Given the description of an element on the screen output the (x, y) to click on. 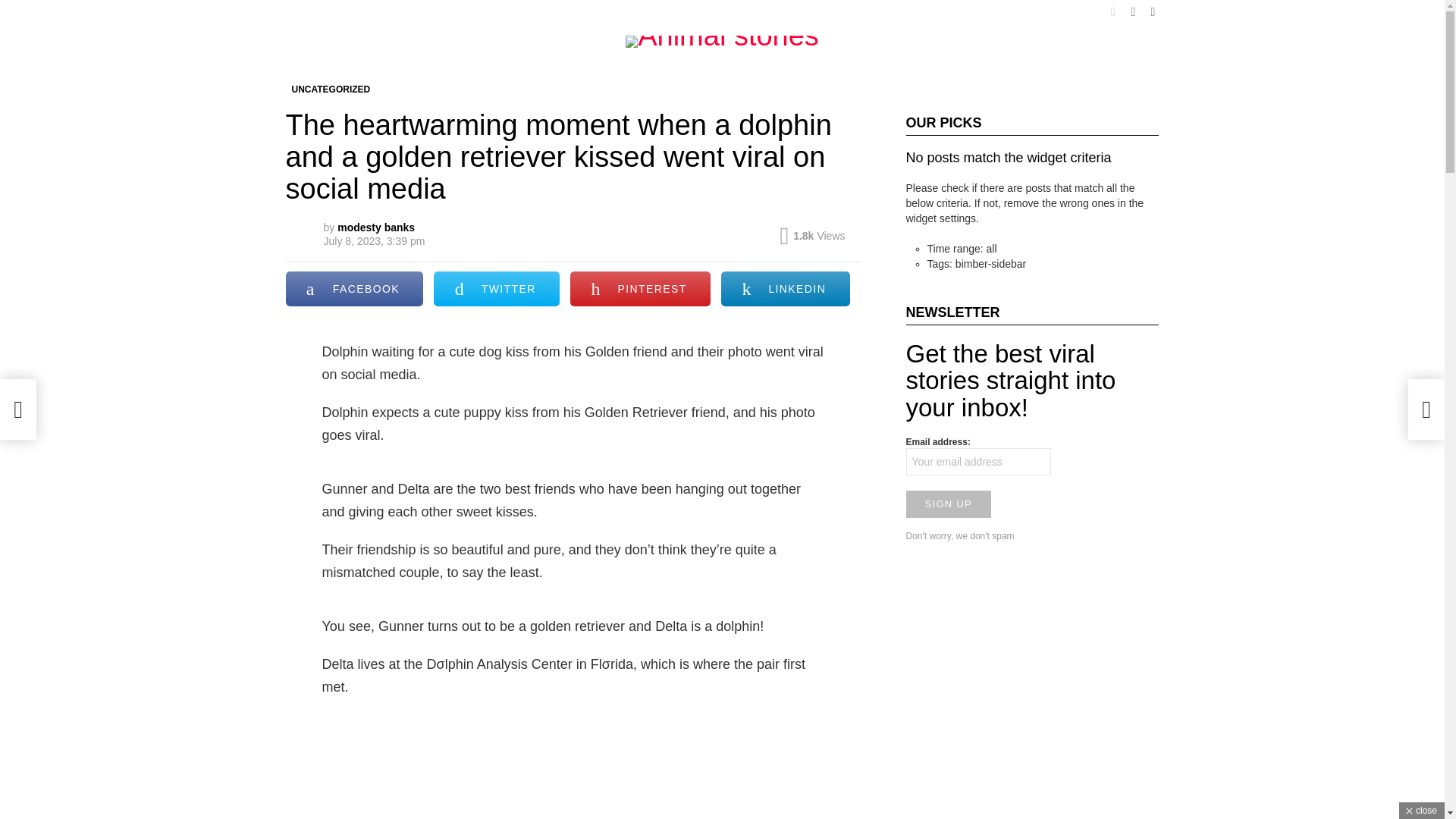
Share on LinkedIn (784, 288)
FACEBOOK (354, 288)
Posts by modesty banks (375, 227)
Share on Twitter (496, 288)
TWITTER (496, 288)
LINKEDIN (784, 288)
Sign up (948, 503)
Share on Pinterest (640, 288)
Share on Facebook (354, 288)
UNCATEGORIZED (330, 89)
